Given the description of an element on the screen output the (x, y) to click on. 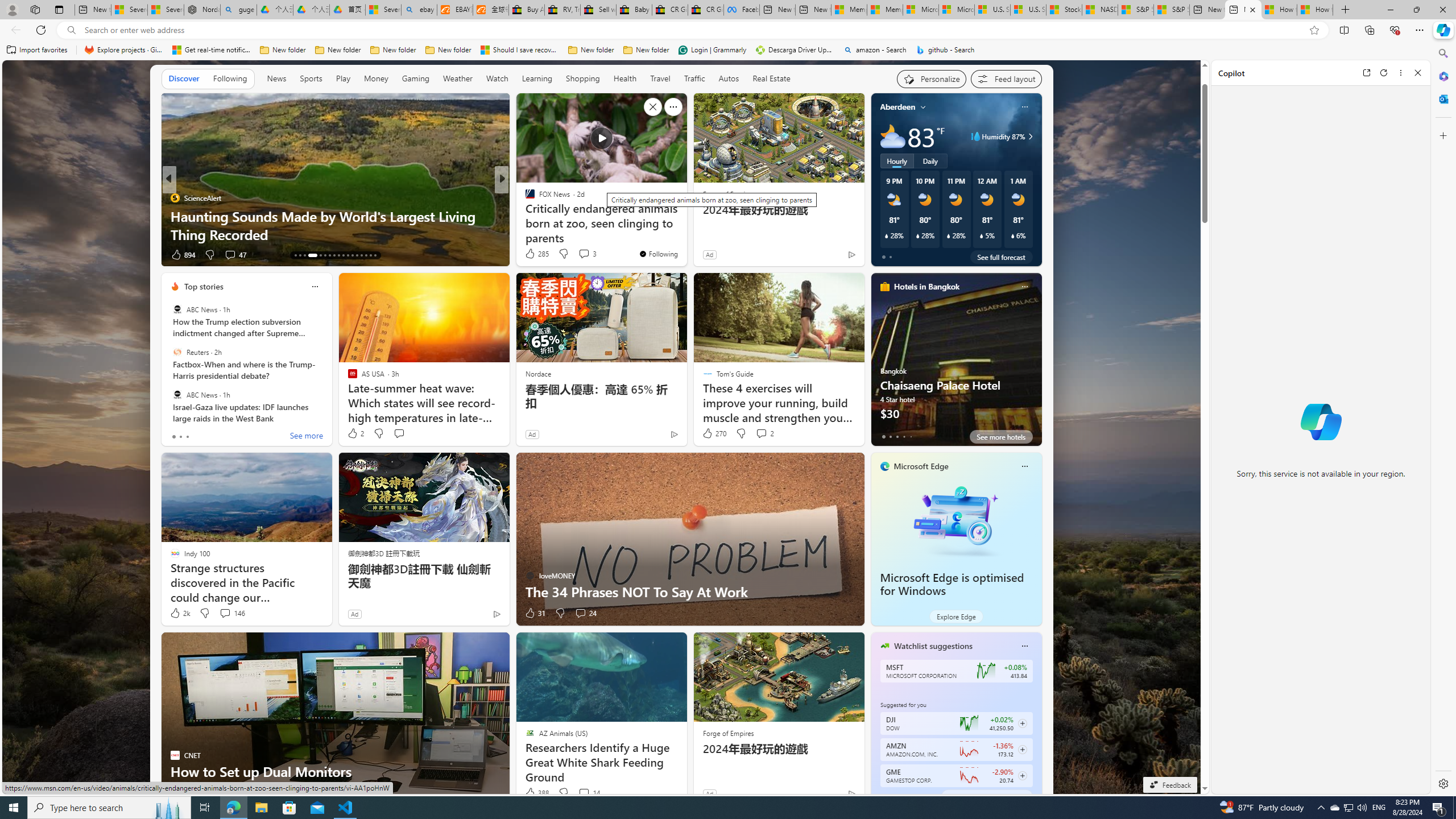
See more hotels (1000, 436)
S&P 500, Nasdaq end lower, weighed by Nvidia dip | Watch (1170, 9)
Personalize your feed" (931, 78)
View comments 24 Comment (580, 613)
Travel (660, 78)
tab-1 (889, 795)
View comments 167 Comment (576, 254)
Aberdeen (897, 106)
Settings (1442, 783)
AutomationID: tab-19 (329, 255)
243 Like (532, 254)
